Given the description of an element on the screen output the (x, y) to click on. 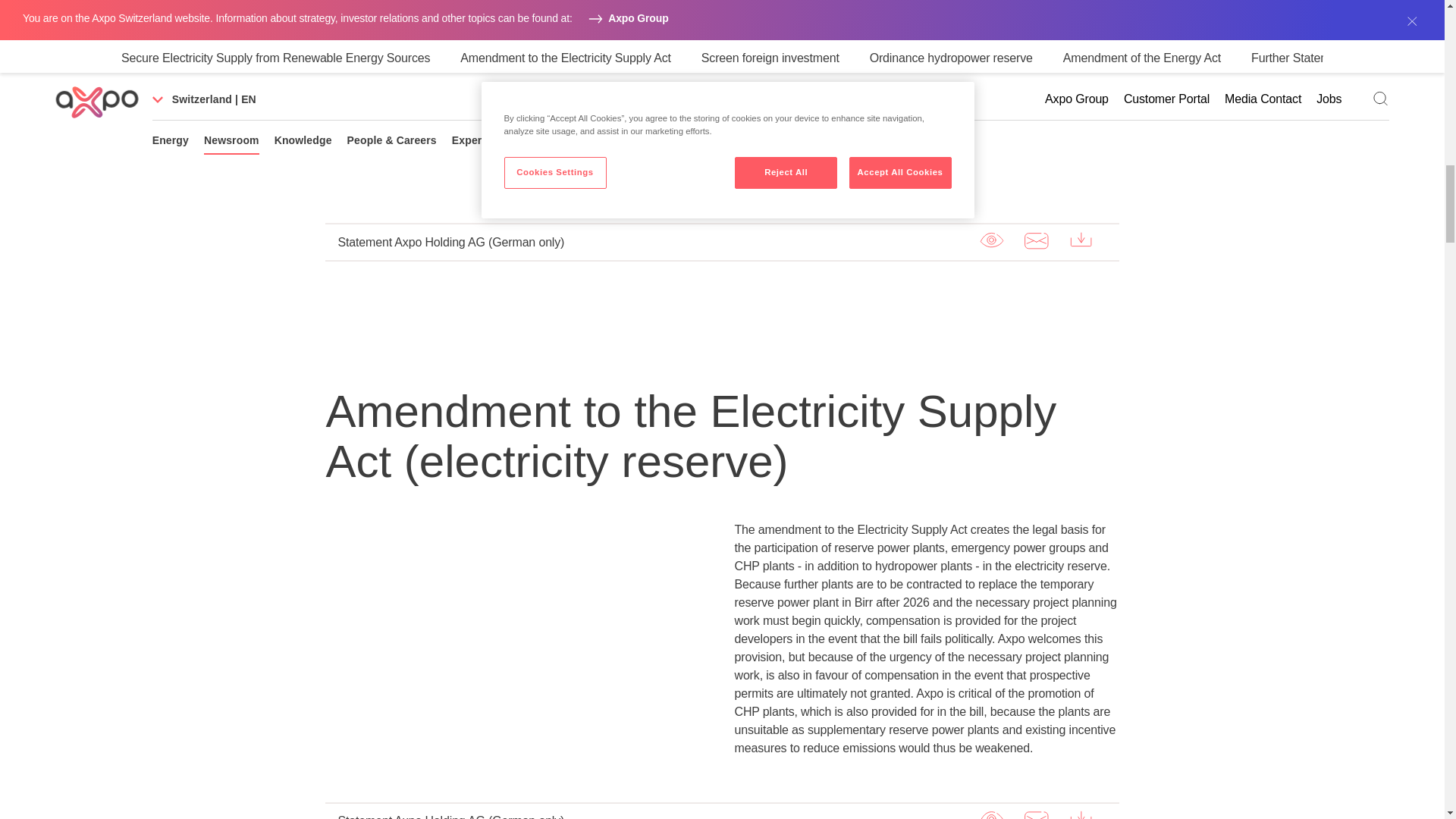
Send email (1036, 813)
Send email (1036, 240)
